Given the description of an element on the screen output the (x, y) to click on. 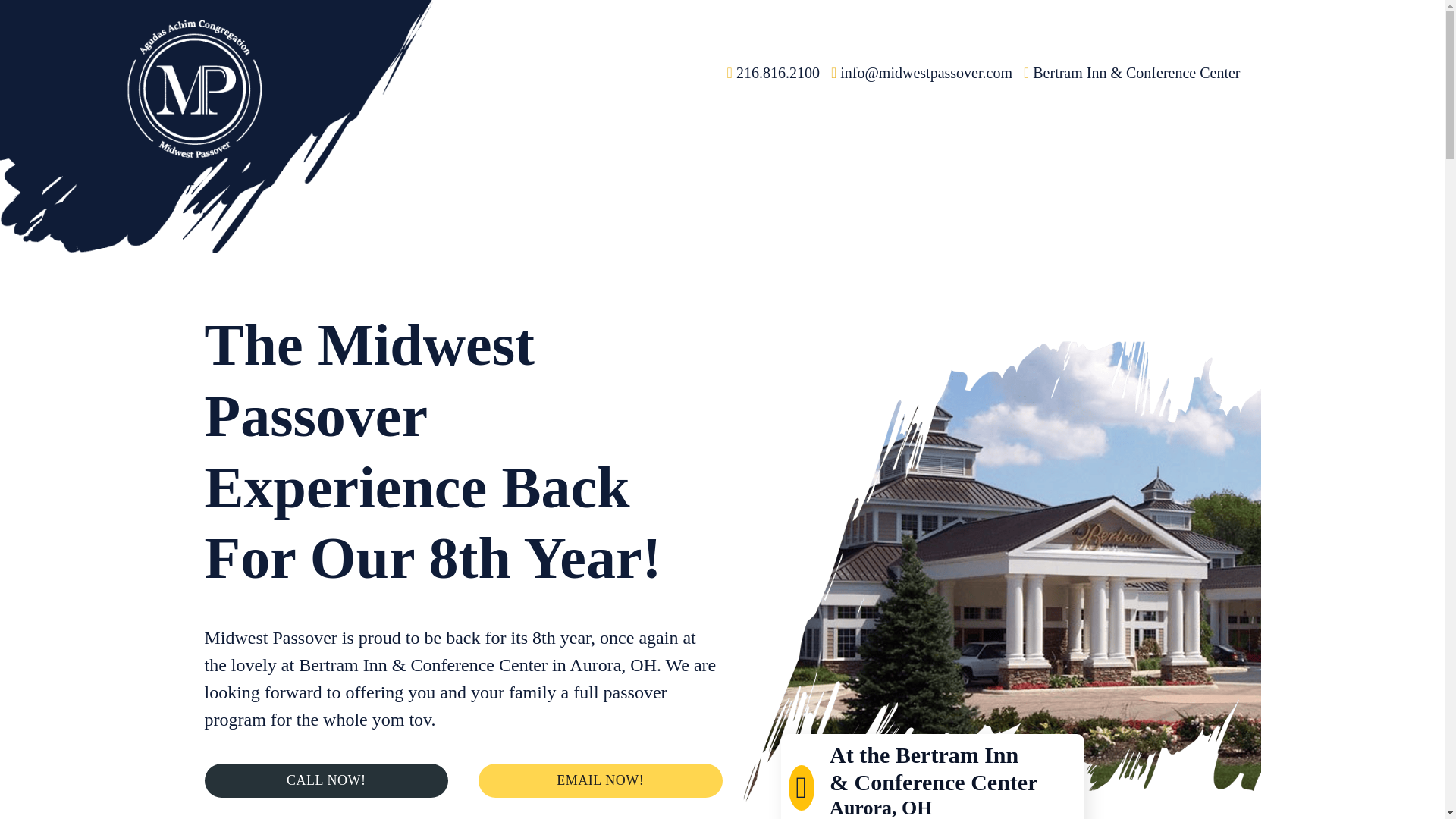
216.816.2100 (772, 72)
CALL NOW! (326, 780)
EMAIL NOW! (600, 780)
